Given the description of an element on the screen output the (x, y) to click on. 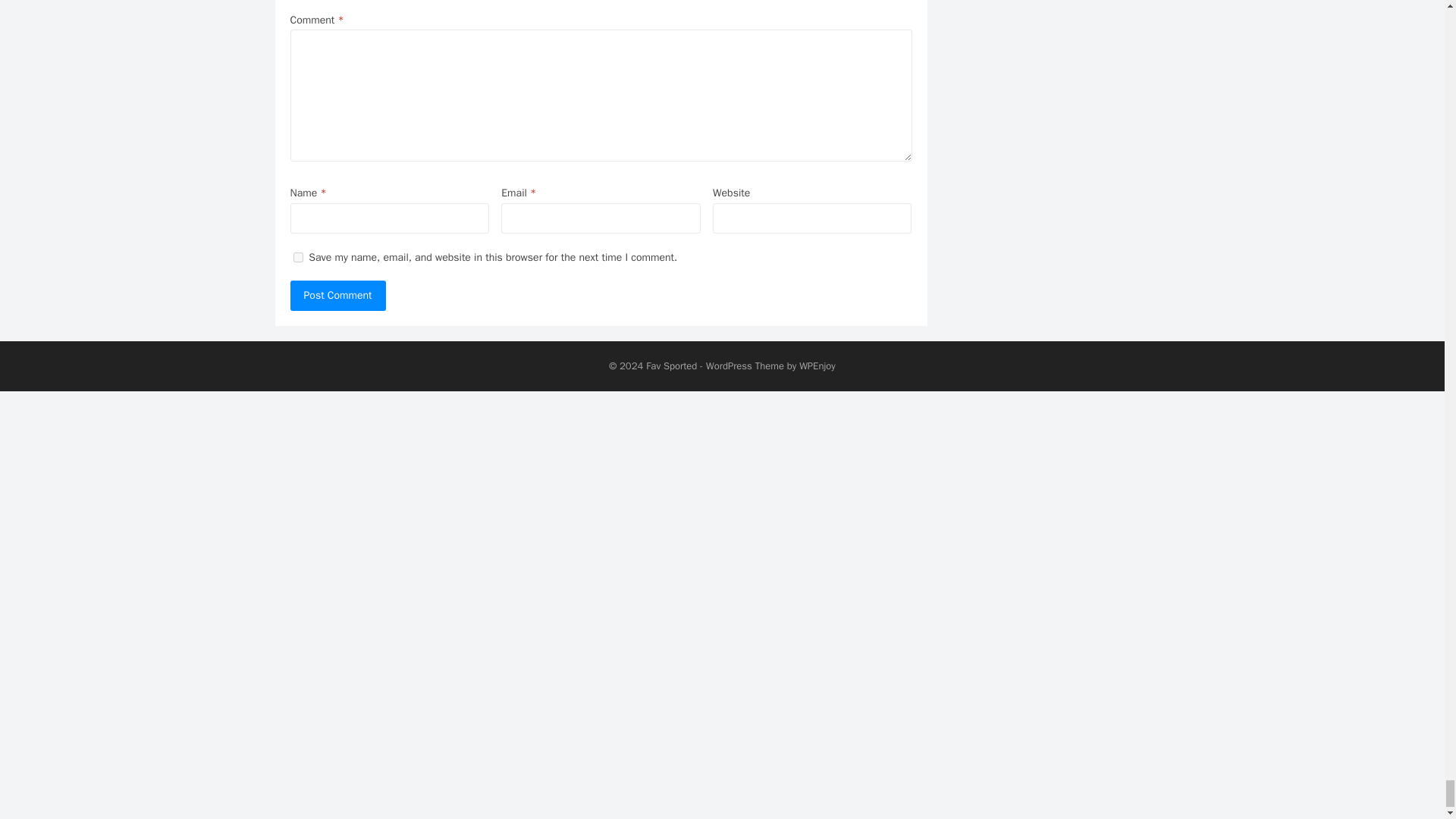
Post Comment (337, 295)
yes (297, 257)
